Given the description of an element on the screen output the (x, y) to click on. 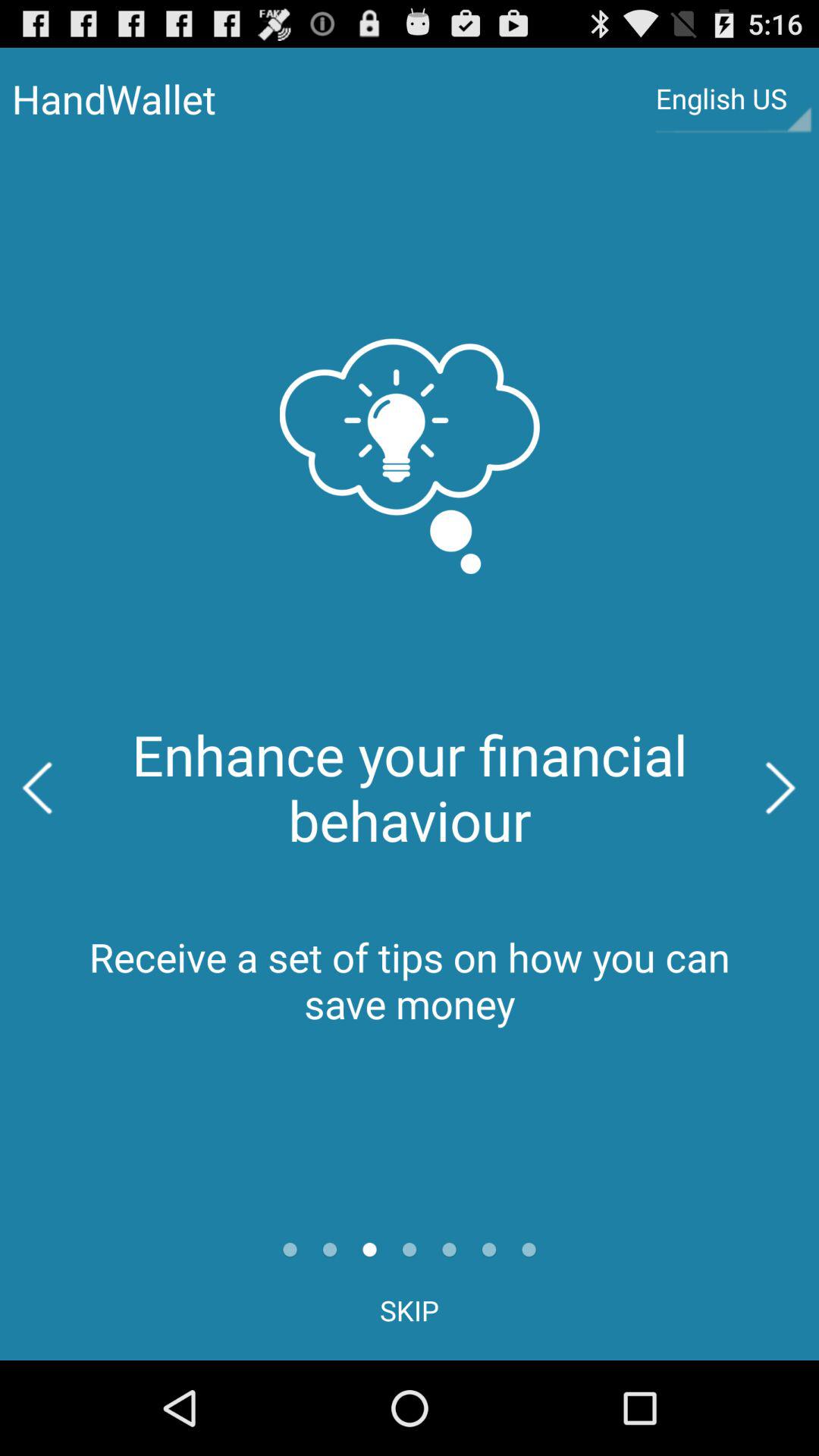
select the icon on the right (781, 787)
